Given the description of an element on the screen output the (x, y) to click on. 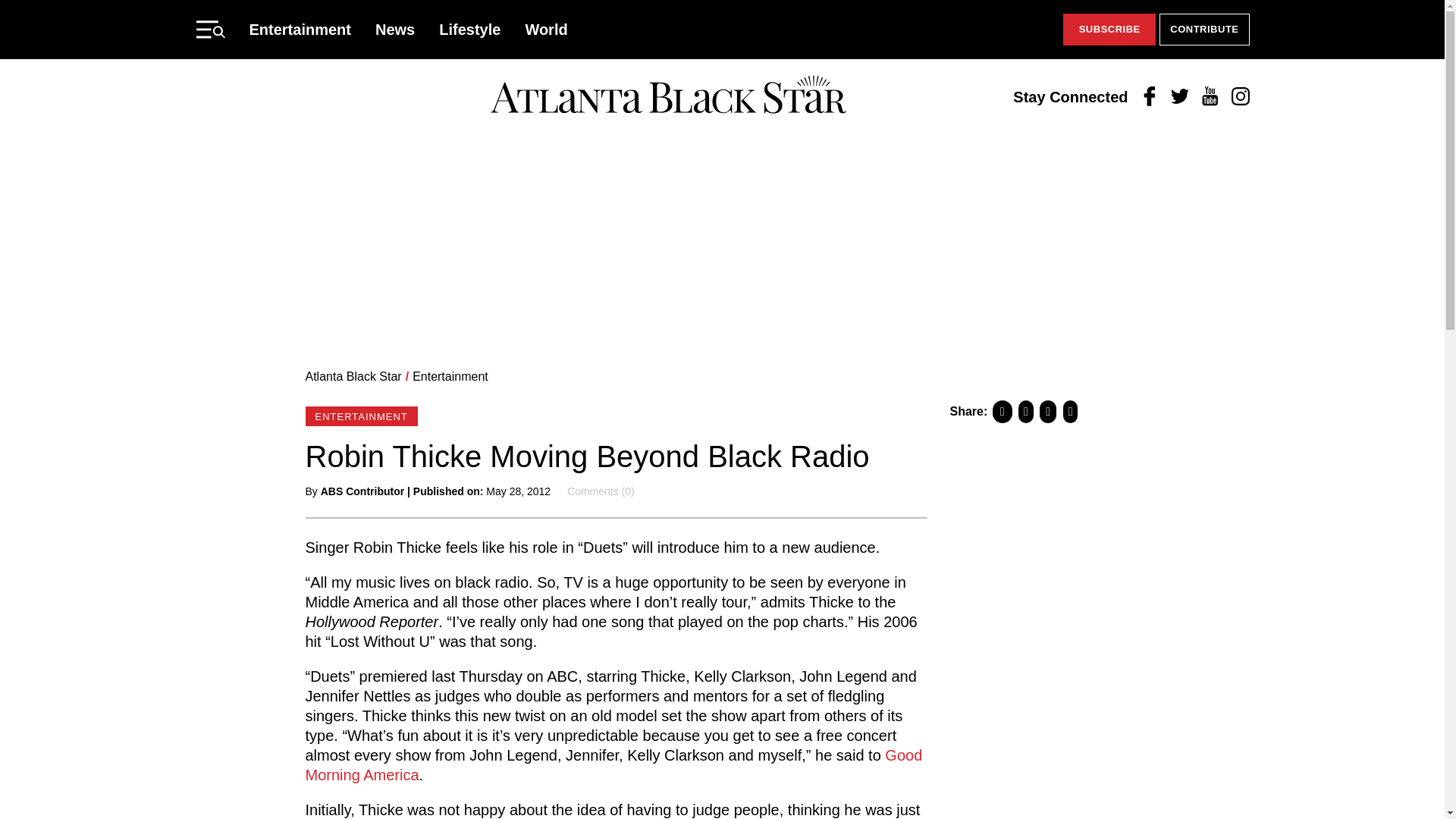
Entertainment (449, 376)
ENTERTAINMENT (360, 415)
News (394, 29)
Lifestyle (469, 29)
CONTRIBUTE (1203, 29)
Atlanta Black Star (352, 376)
ABS Contributor (362, 491)
SUBSCRIBE (1109, 29)
World (545, 29)
Atlanta Black Star (667, 96)
